Given the description of an element on the screen output the (x, y) to click on. 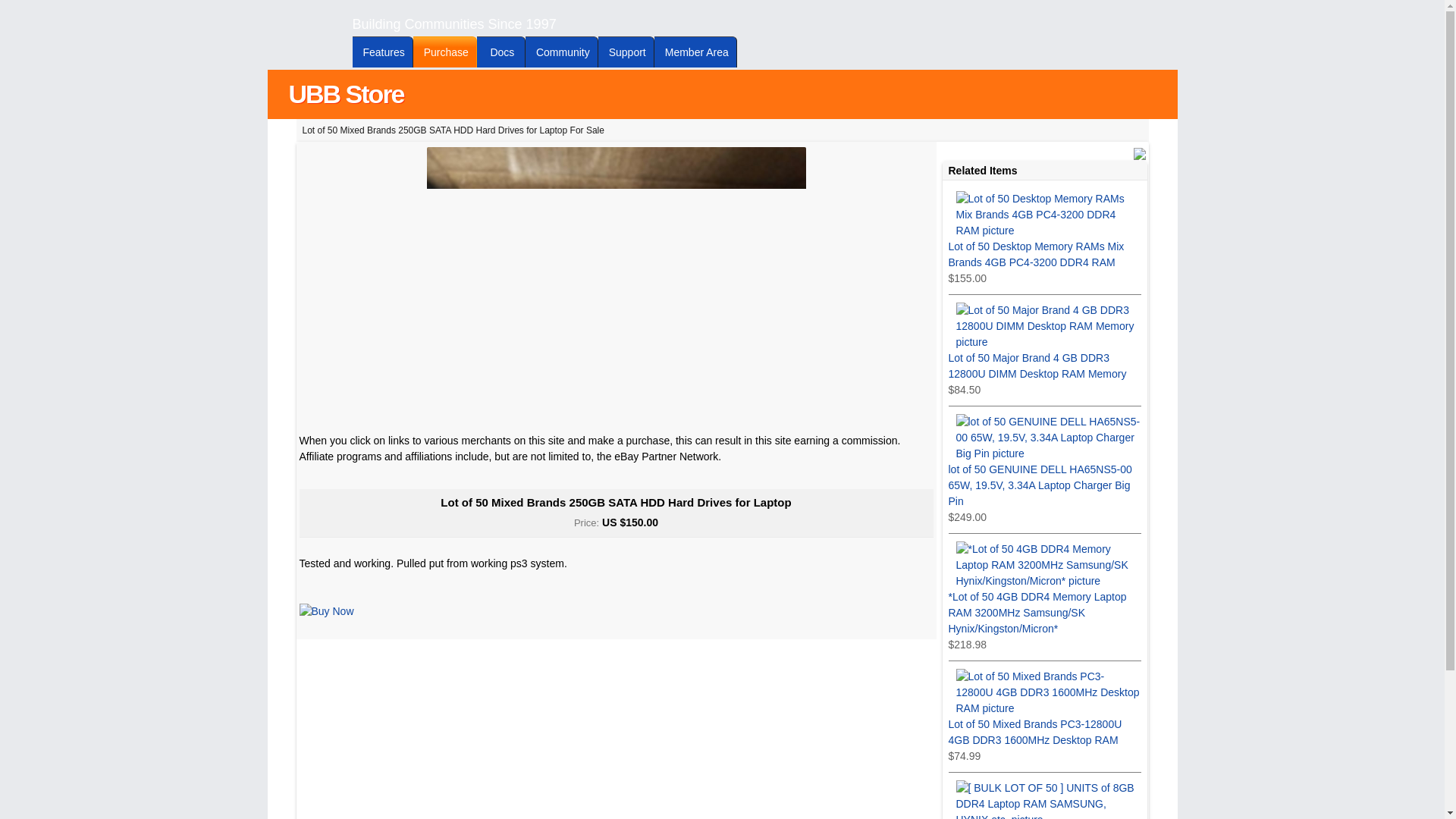
Community (561, 51)
Buy Now (325, 611)
Purchase (445, 51)
Docs (501, 51)
Features (382, 51)
Support (625, 51)
